Given the description of an element on the screen output the (x, y) to click on. 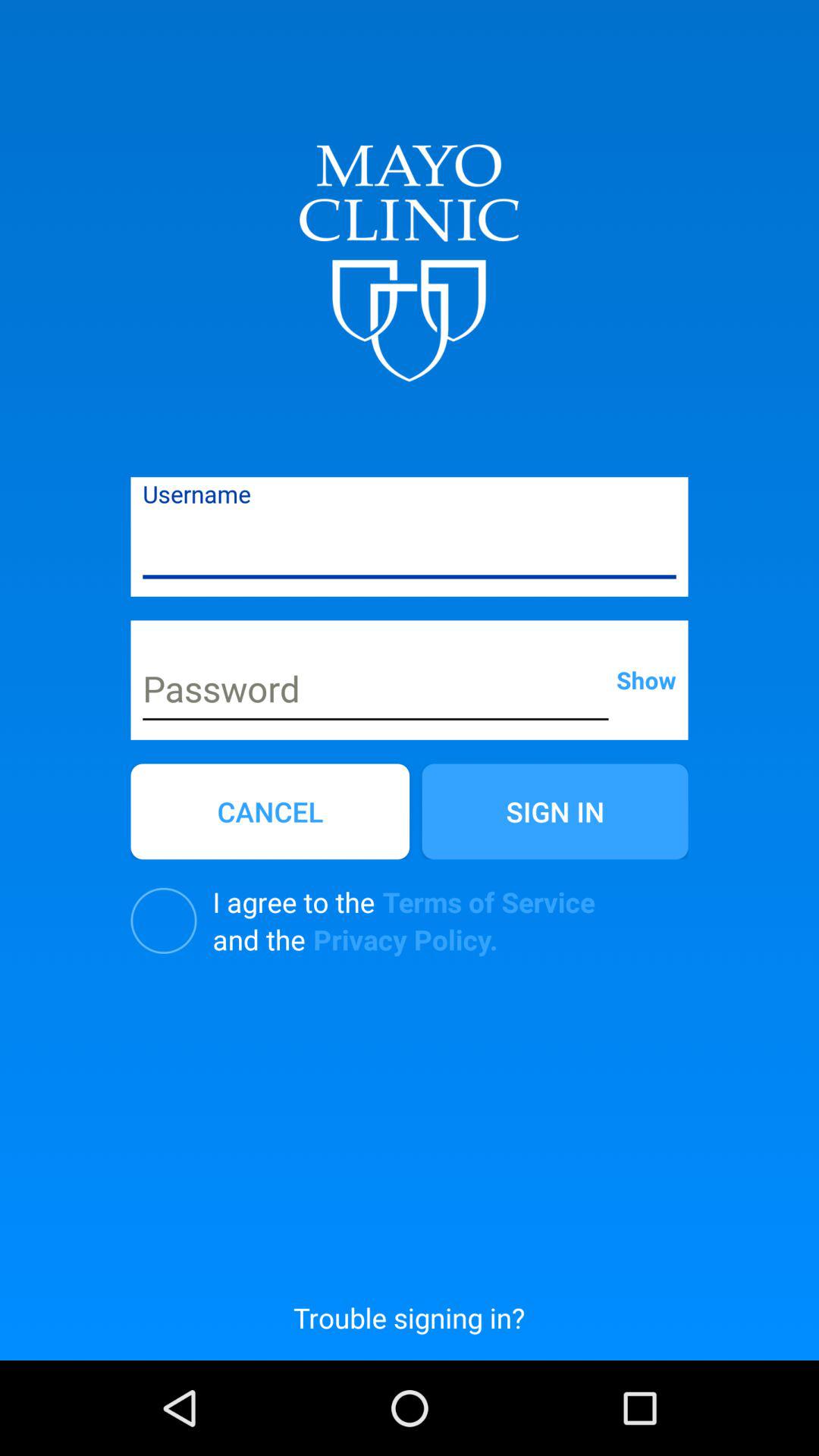
enter username (409, 547)
